Given the description of an element on the screen output the (x, y) to click on. 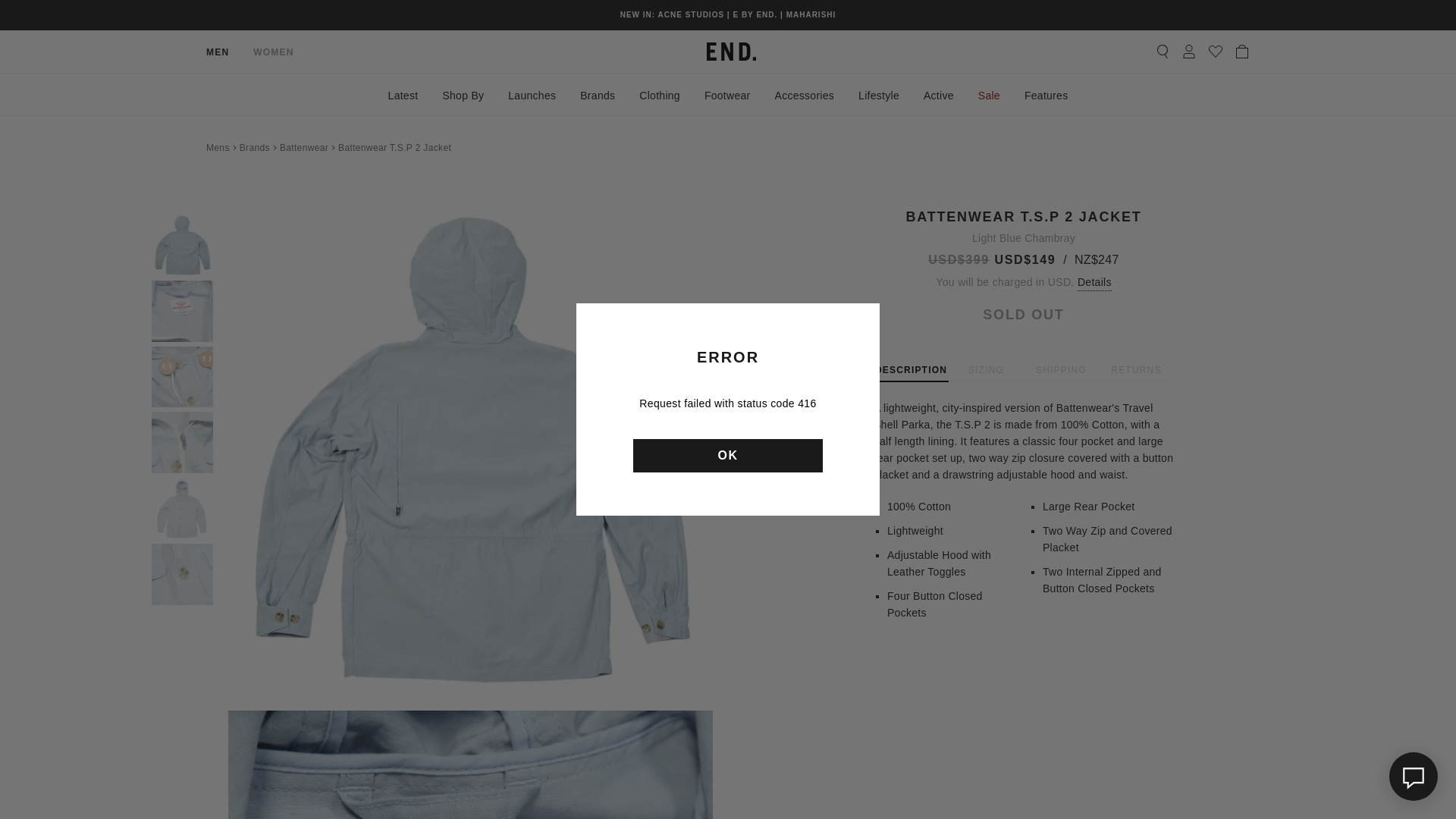
Battenwear T.S.P 2 Jacket (394, 147)
WOMEN (273, 51)
Latest (402, 93)
Brands (254, 147)
Brands (597, 93)
Shop By (462, 93)
Launches (531, 93)
Mens (218, 147)
Battenwear (304, 147)
MEN (217, 51)
